Given the description of an element on the screen output the (x, y) to click on. 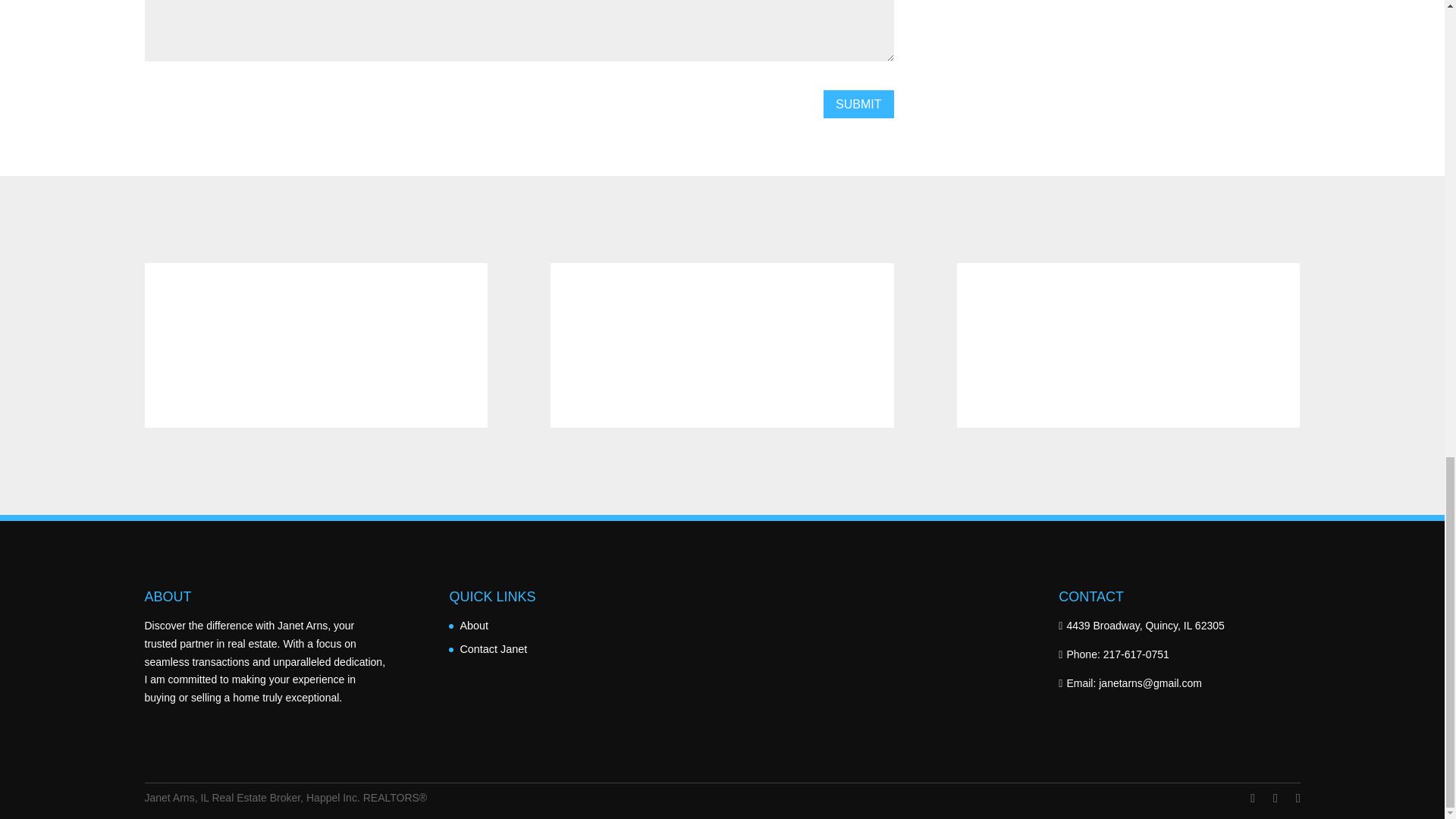
SUBMIT (858, 103)
About (473, 625)
Contact Janet (493, 648)
